Given the description of an element on the screen output the (x, y) to click on. 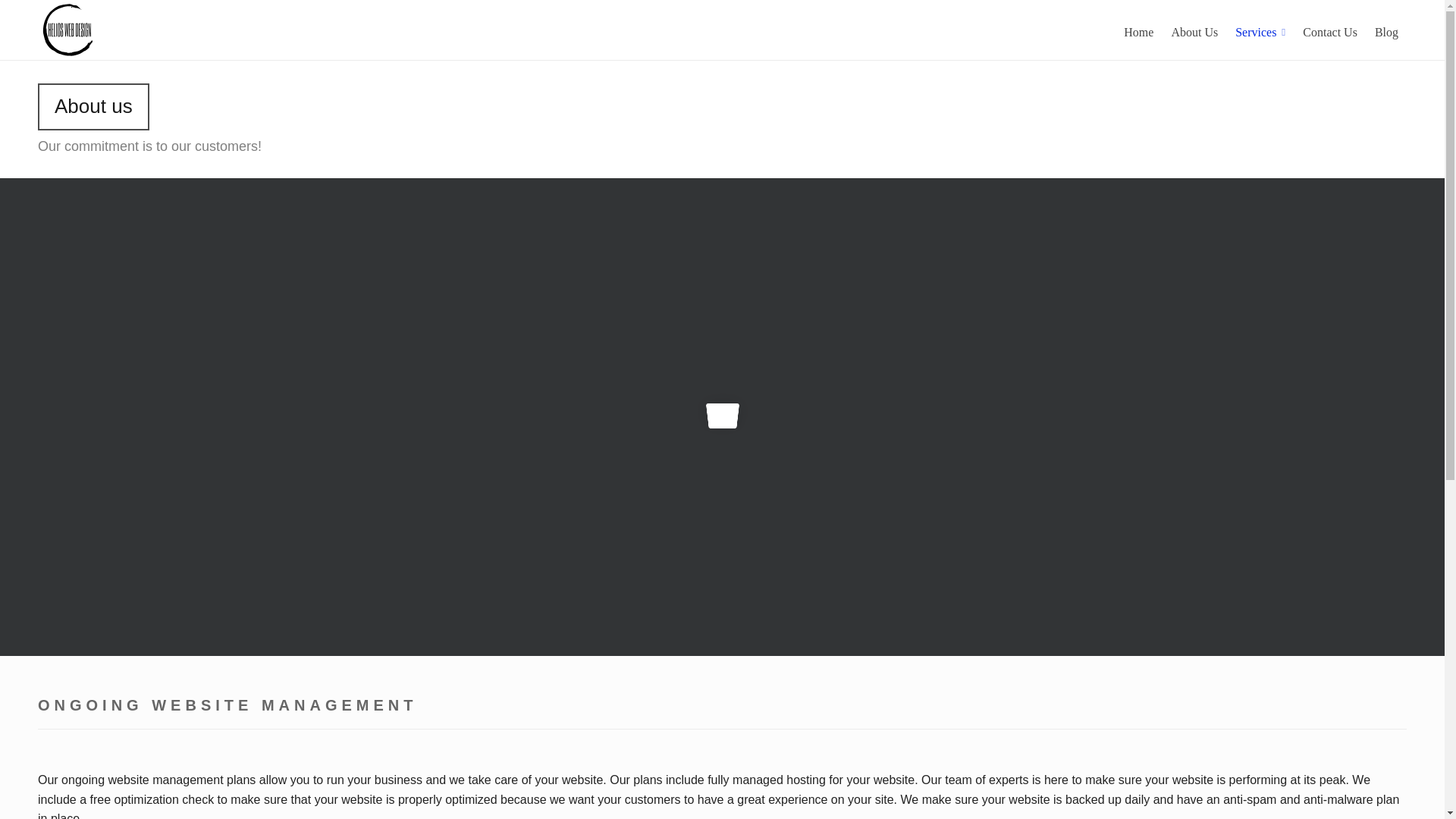
Privacy Policy (1324, 799)
Services (1260, 30)
Sitemap (1387, 799)
About Us (1193, 30)
Terms and Conditions (1230, 799)
Contact Us (1329, 30)
